Given the description of an element on the screen output the (x, y) to click on. 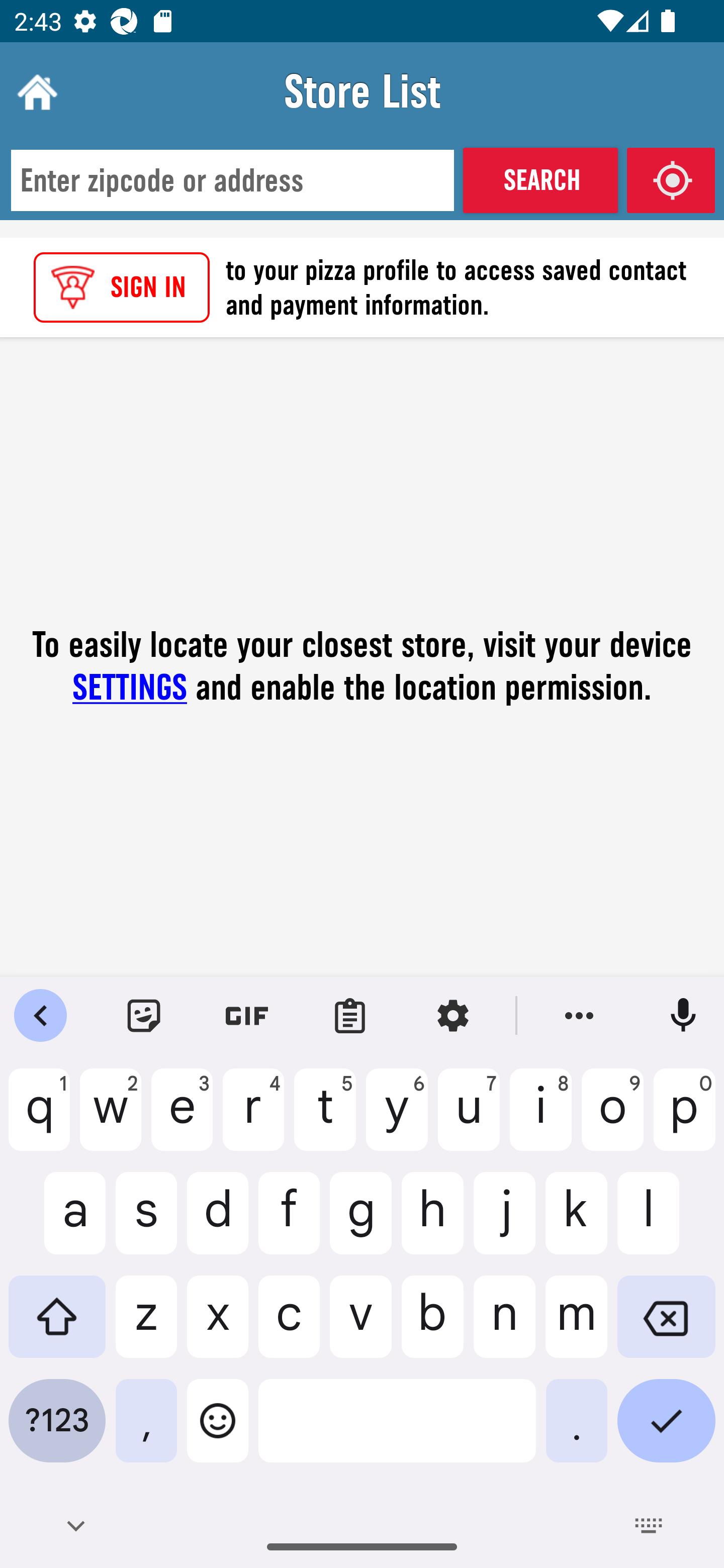
Home (35, 91)
SEARCH (540, 180)
Use Current Location (670, 180)
Enter zipcode or address (231, 180)
SIGN IN (121, 287)
